Given the description of an element on the screen output the (x, y) to click on. 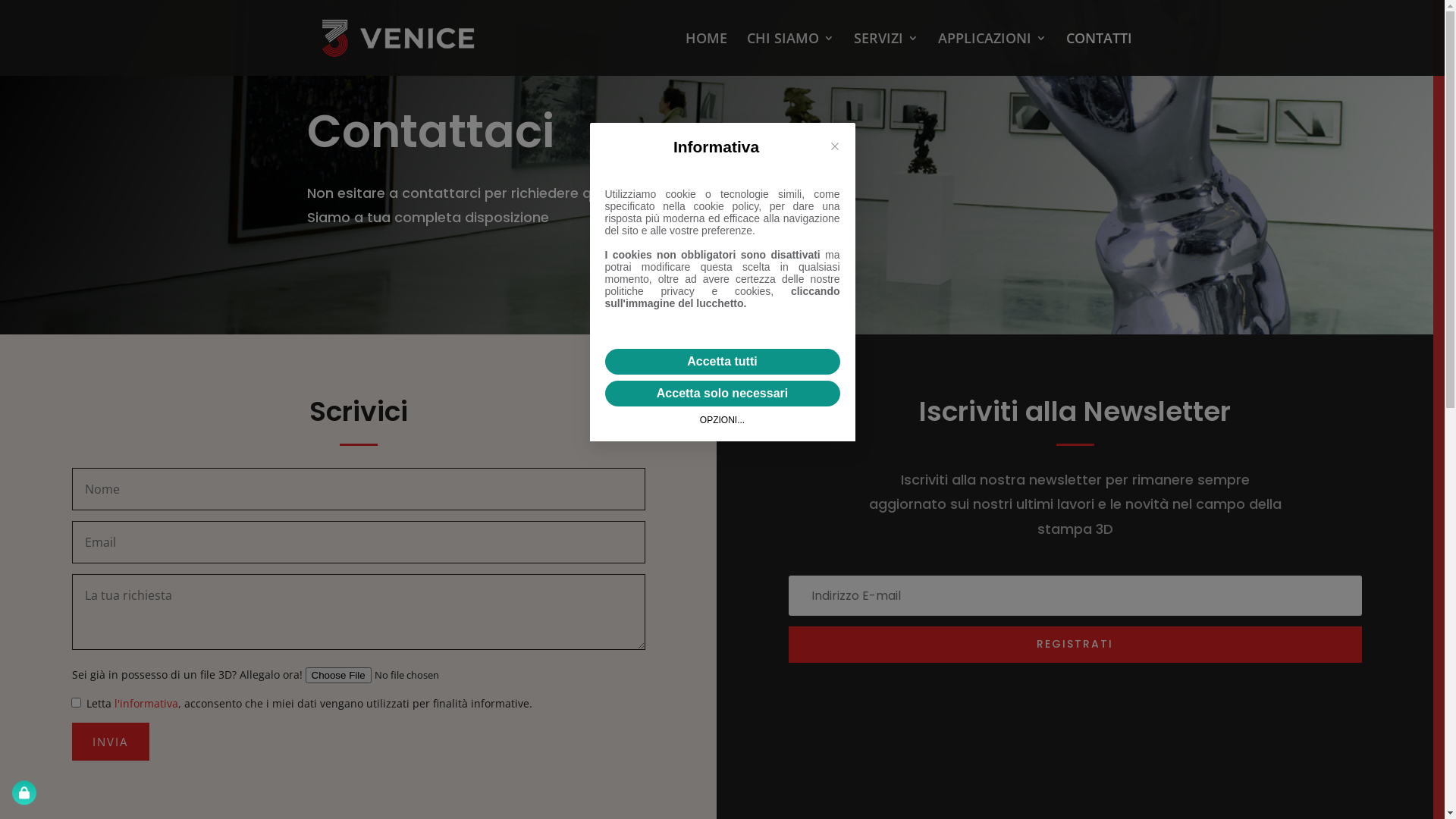
Invia Element type: text (109, 741)
HOME Element type: text (706, 53)
REGISTRATI Element type: text (1074, 644)
l'informativa Element type: text (145, 703)
SERVIZI Element type: text (885, 53)
CONTATTI Element type: text (1099, 53)
CHI SIAMO Element type: text (789, 53)
APPLICAZIONI Element type: text (991, 53)
